Given the description of an element on the screen output the (x, y) to click on. 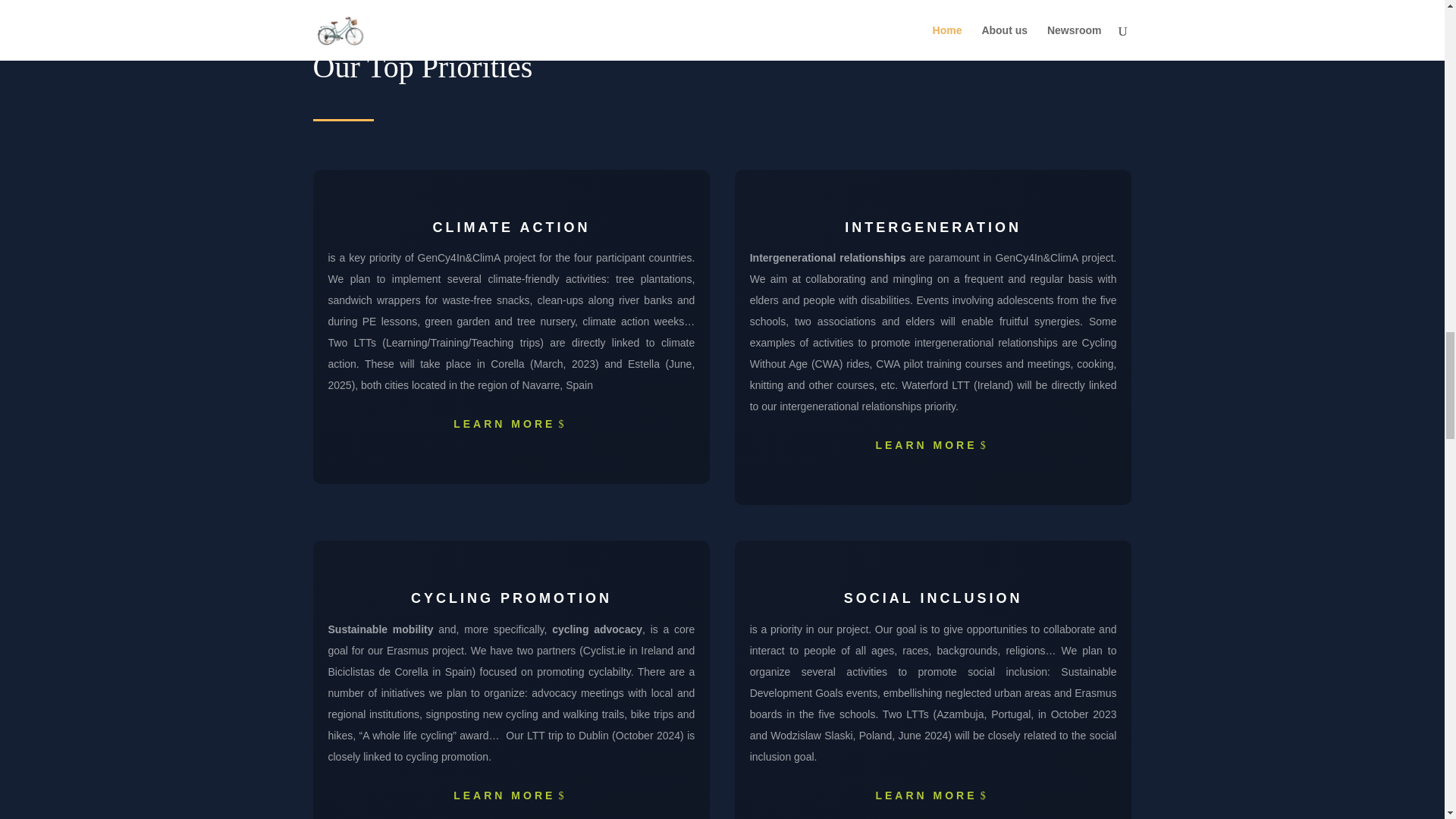
LEARN MORE (933, 445)
LEARN MORE (511, 795)
LEARN MORE (933, 795)
LEARN MORE (511, 424)
